Given the description of an element on the screen output the (x, y) to click on. 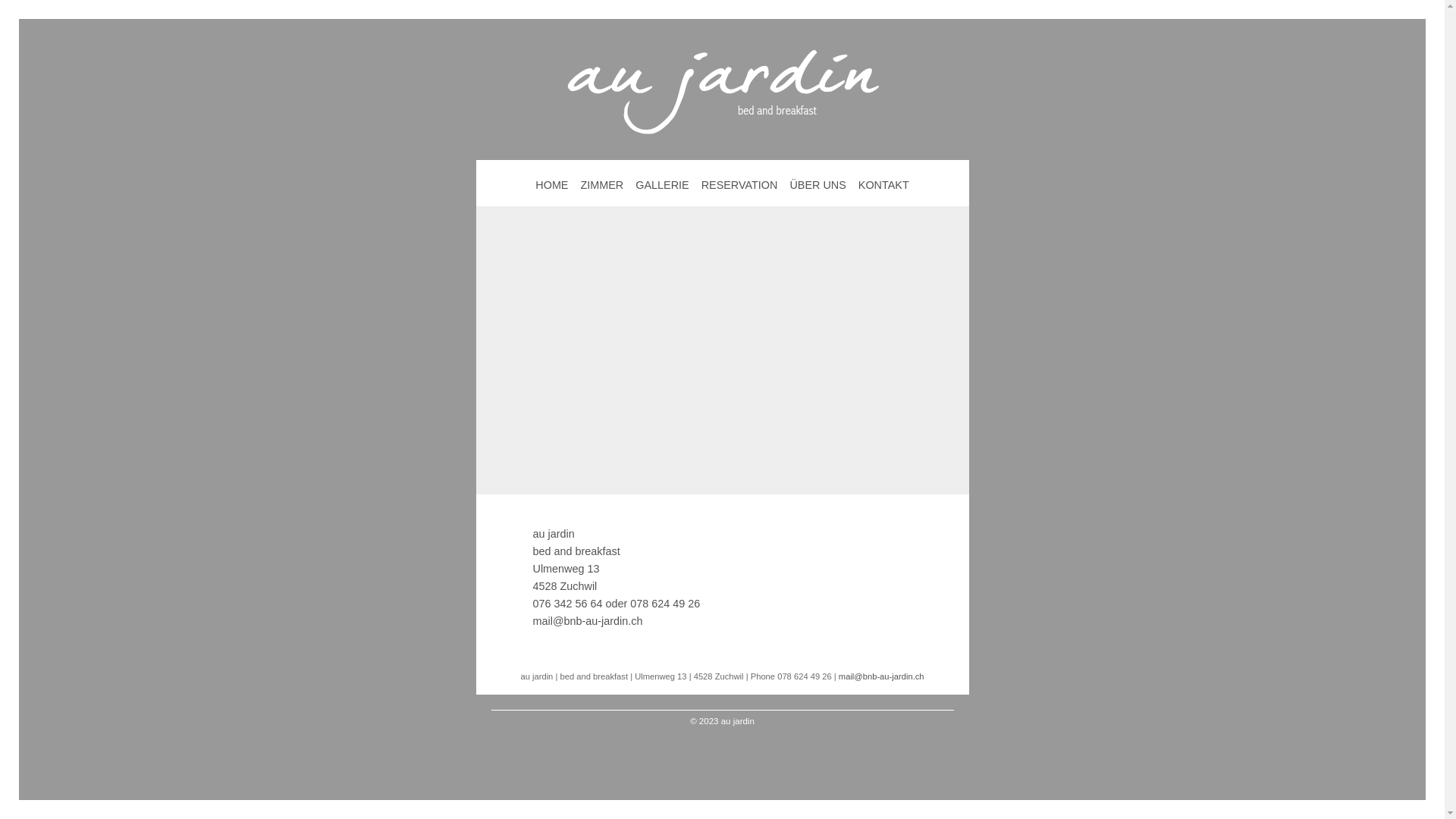
GALLERIE Element type: text (661, 184)
RESERVATION Element type: text (739, 184)
mail@bnb-au-jardin.ch Element type: text (881, 675)
KONTAKT Element type: text (883, 184)
mail@bnb-au-jardin.ch Element type: text (587, 621)
ZIMMER Element type: text (601, 184)
HOME Element type: text (551, 184)
